Given the description of an element on the screen output the (x, y) to click on. 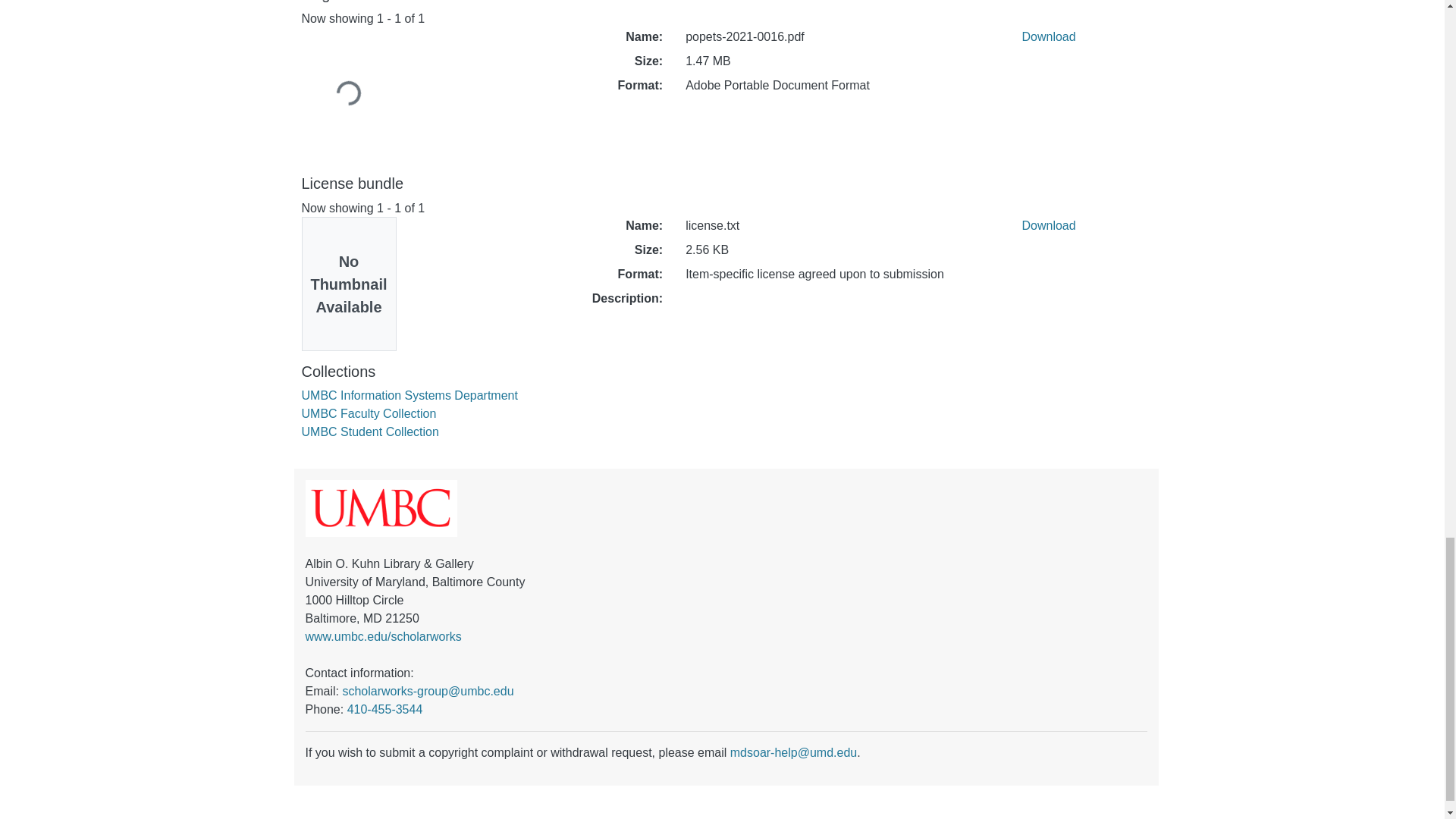
410-455-3544 (385, 708)
UMBC Information Systems Department (409, 395)
Download (1048, 36)
UMBC Student Collection (370, 431)
Download (1048, 225)
UMBC Faculty Collection (368, 413)
